Given the description of an element on the screen output the (x, y) to click on. 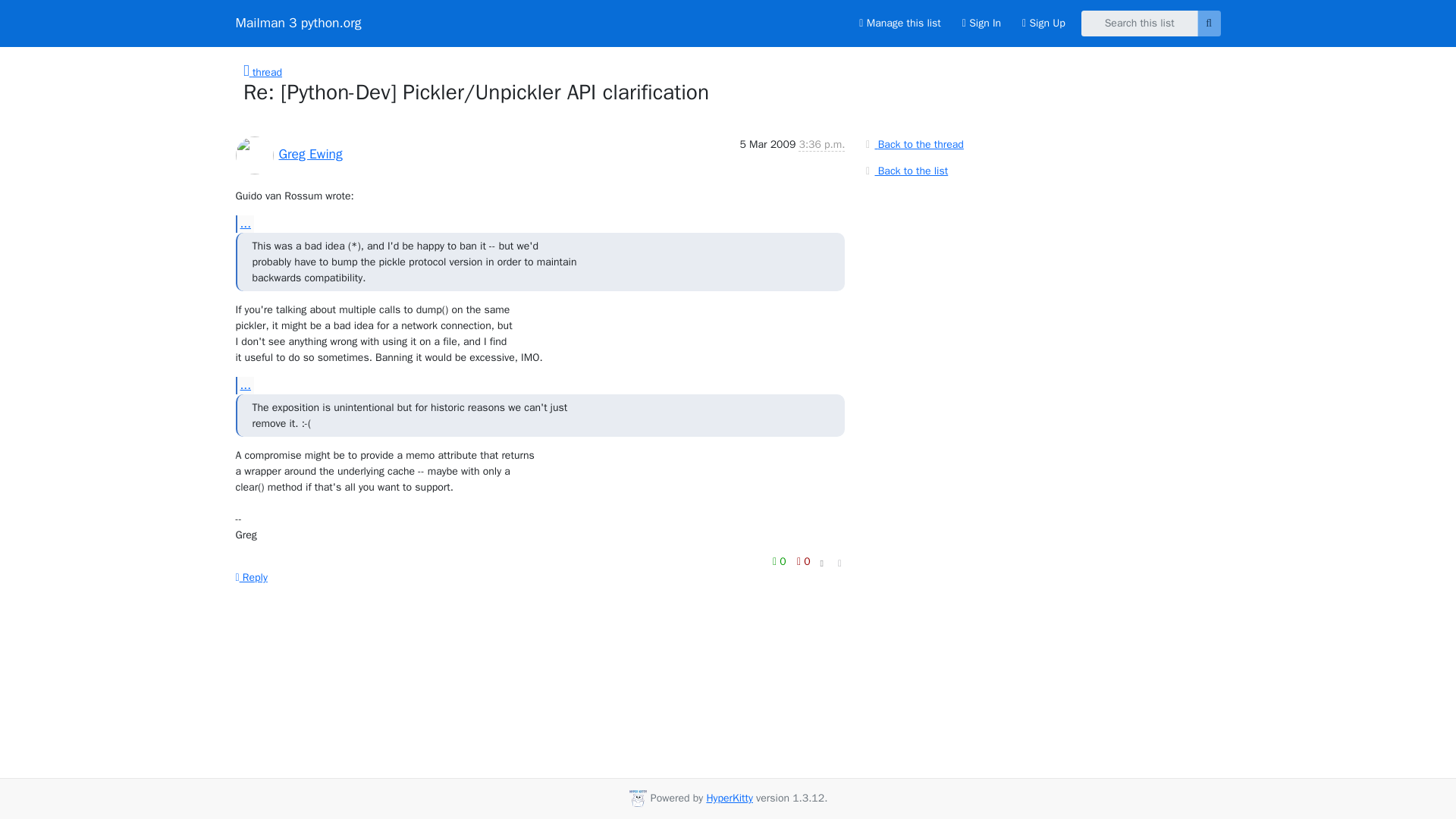
You must be logged-in to vote. (780, 561)
Sign Up (1043, 22)
0 (780, 561)
0 (803, 561)
Permalink for this message (839, 563)
thread (262, 72)
See the profile for Greg Ewing (310, 153)
Back to the list (903, 169)
Reply (250, 576)
Manage this list (899, 22)
... (243, 223)
... (243, 384)
Mailman 3 python.org (297, 23)
Reply (250, 576)
Sign In (981, 22)
